Given the description of an element on the screen output the (x, y) to click on. 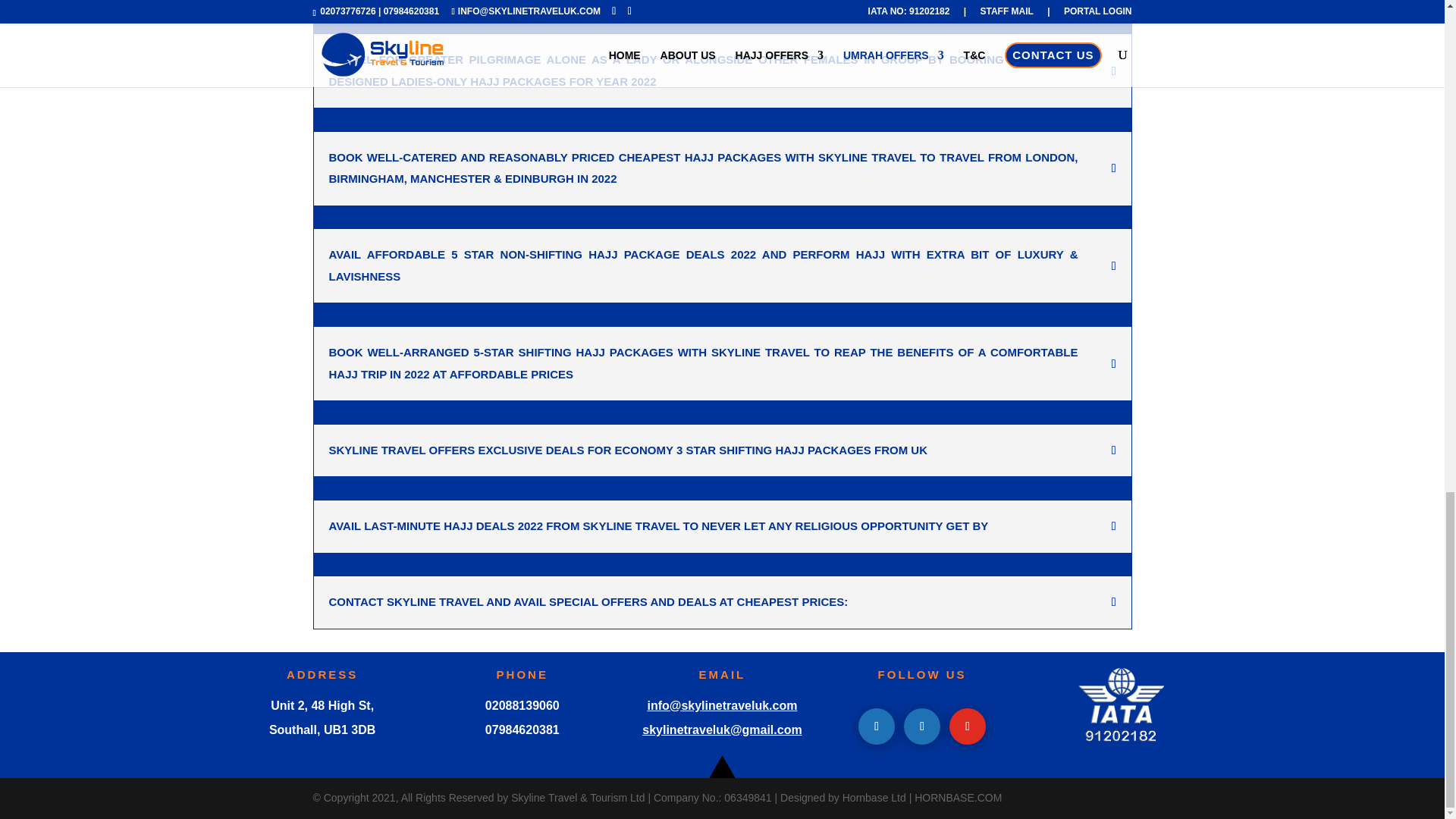
IATA WITH NO (1121, 707)
Follow on Facebook (877, 726)
Follow on Youtube (967, 726)
Follow on Twitter (922, 726)
